Given the description of an element on the screen output the (x, y) to click on. 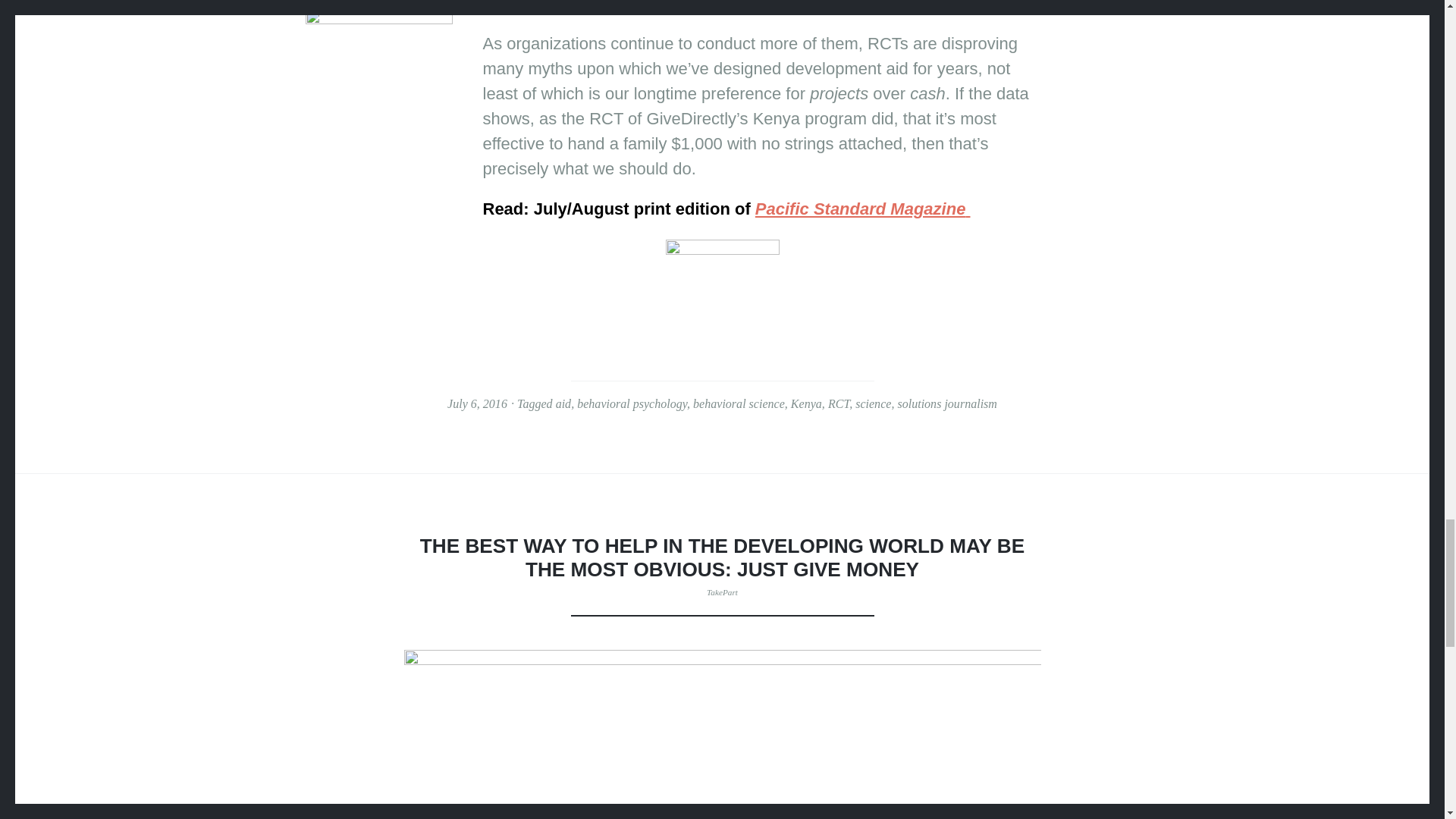
behavioral psychology (631, 403)
Pacific Standard Magazine  (863, 208)
July 6, 2016 (476, 403)
Kenya (806, 403)
aid (564, 403)
behavioral science (738, 403)
RCT (838, 403)
